Given the description of an element on the screen output the (x, y) to click on. 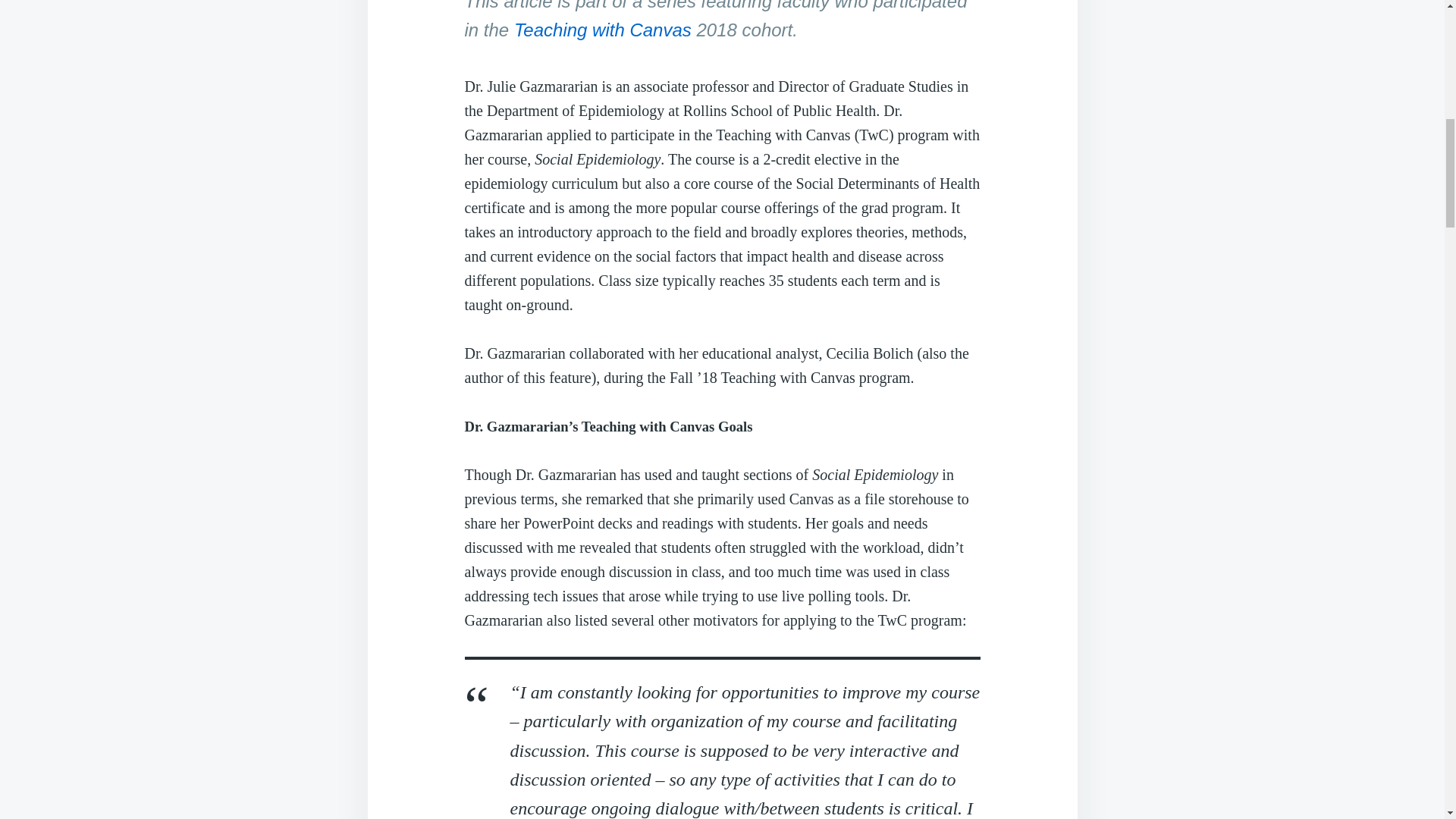
Teaching with Canvas (602, 29)
